Given the description of an element on the screen output the (x, y) to click on. 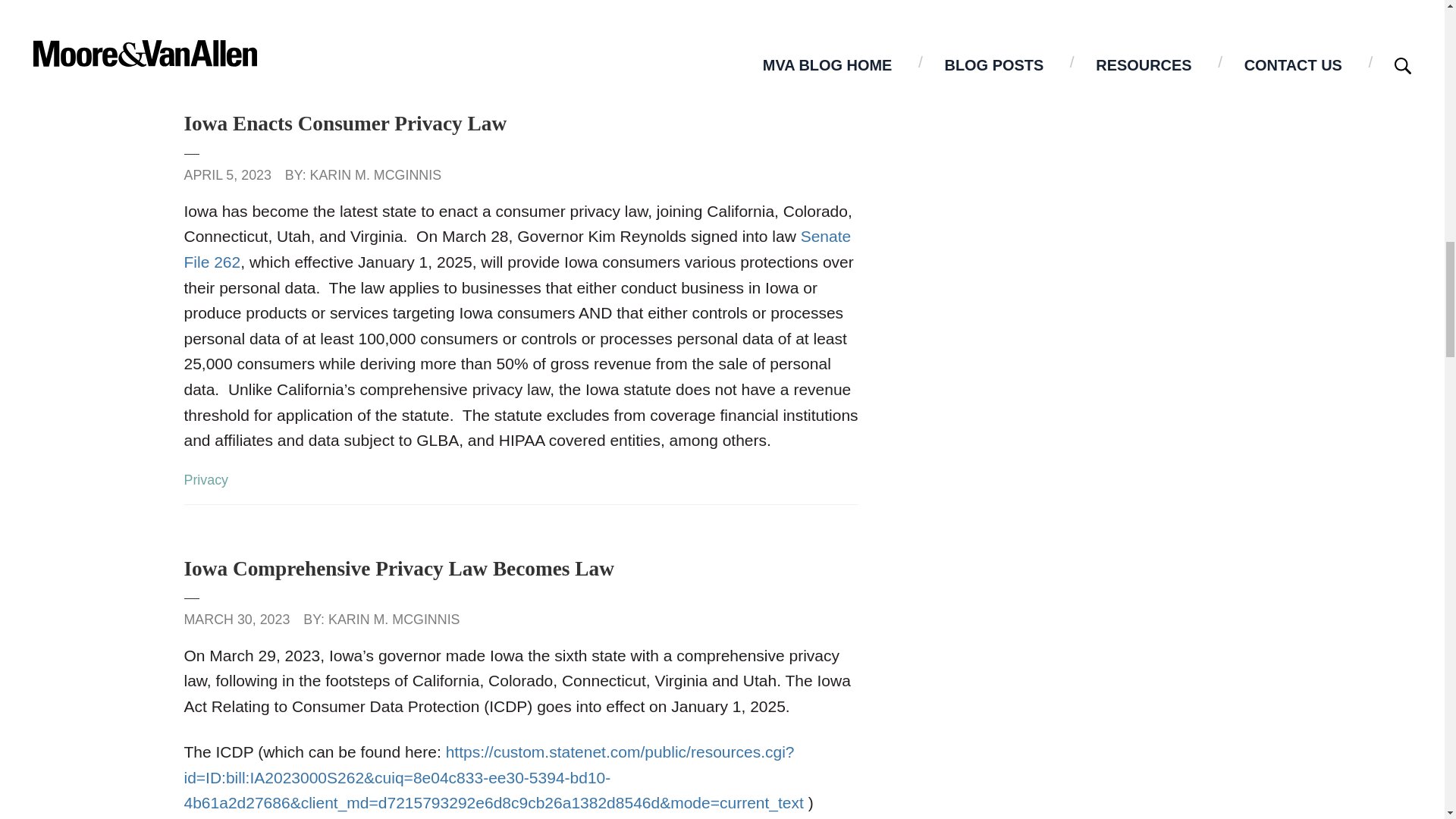
Senate File 262 (516, 249)
Privacy (205, 479)
KARIN M. MCGINNIS (394, 619)
Iowa Enacts Consumer Privacy Law (344, 123)
KARIN M. MCGINNIS (376, 174)
Iowa Comprehensive Privacy Law Becomes Law (397, 568)
Privacy (224, 35)
